Given the description of an element on the screen output the (x, y) to click on. 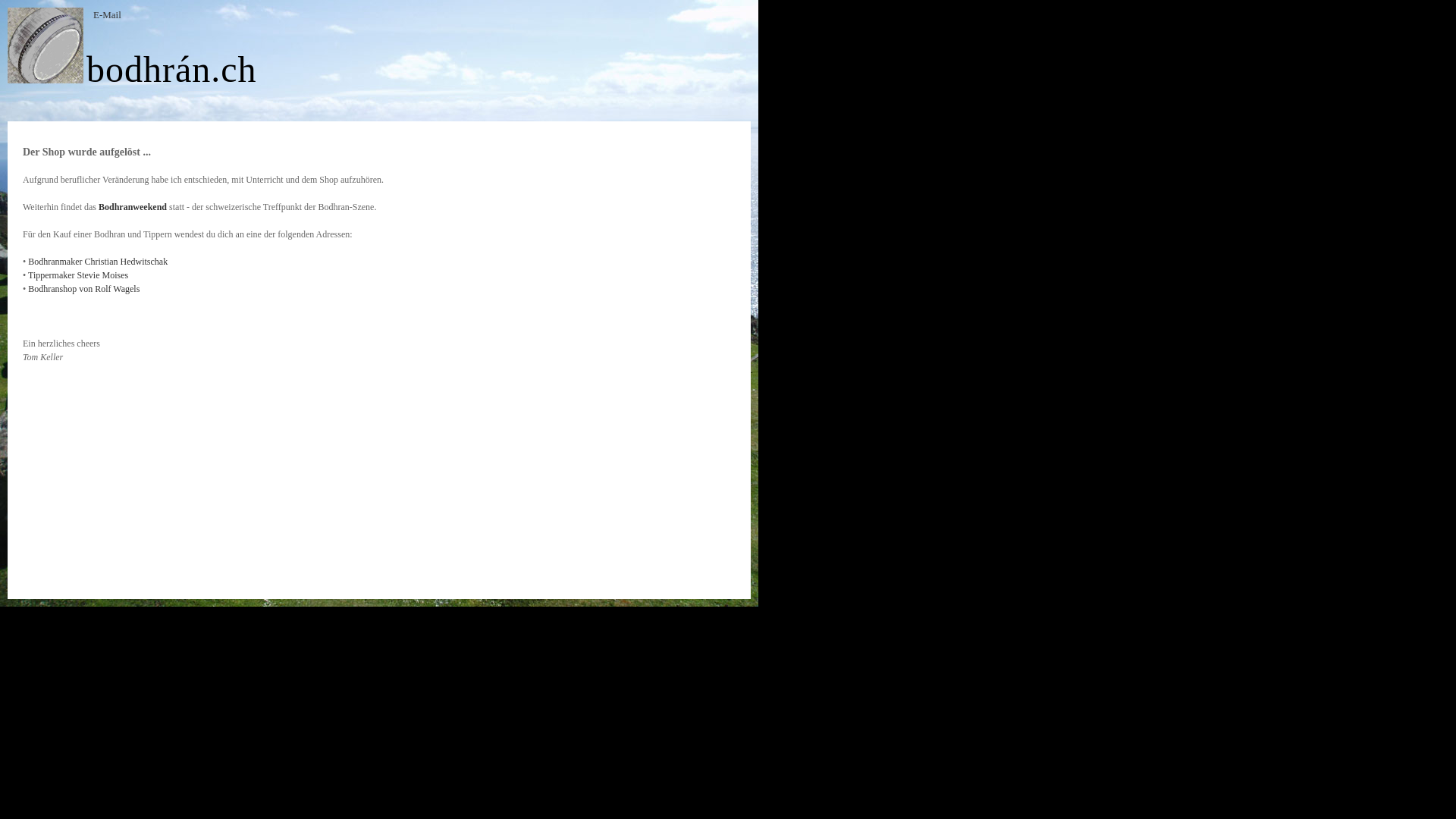
Tippermaker Stevie Moises Element type: text (78, 274)
Bodhranmaker Christian Hedwitschak Element type: text (97, 261)
Bodhranshop von Rolf Wagels Element type: text (83, 288)
E-Mail Element type: text (107, 14)
Bodhranweekend Element type: text (132, 206)
